Given the description of an element on the screen output the (x, y) to click on. 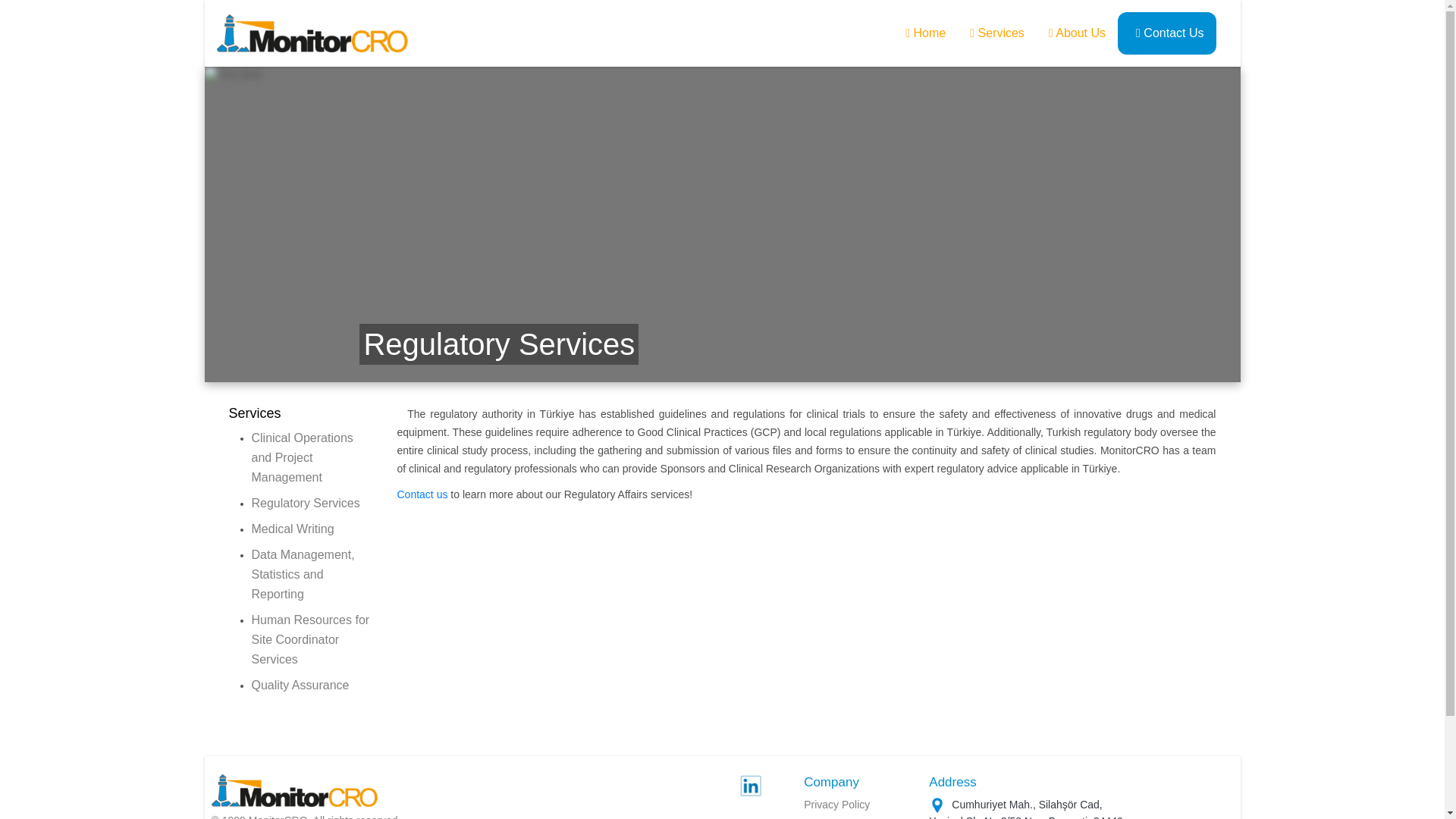
Contact us (422, 494)
Data Management, Statistics and Reporting (303, 573)
Medical Writing (292, 528)
Services (254, 412)
Services (997, 33)
Human Resources for Site Coordinator Services (310, 639)
Contact Us (1169, 32)
Privacy Policy (836, 804)
Regulatory Services (305, 502)
Clinical Operations and Project Management (302, 457)
Quality Assurance (300, 684)
About Us (1076, 32)
Home (924, 32)
